Given the description of an element on the screen output the (x, y) to click on. 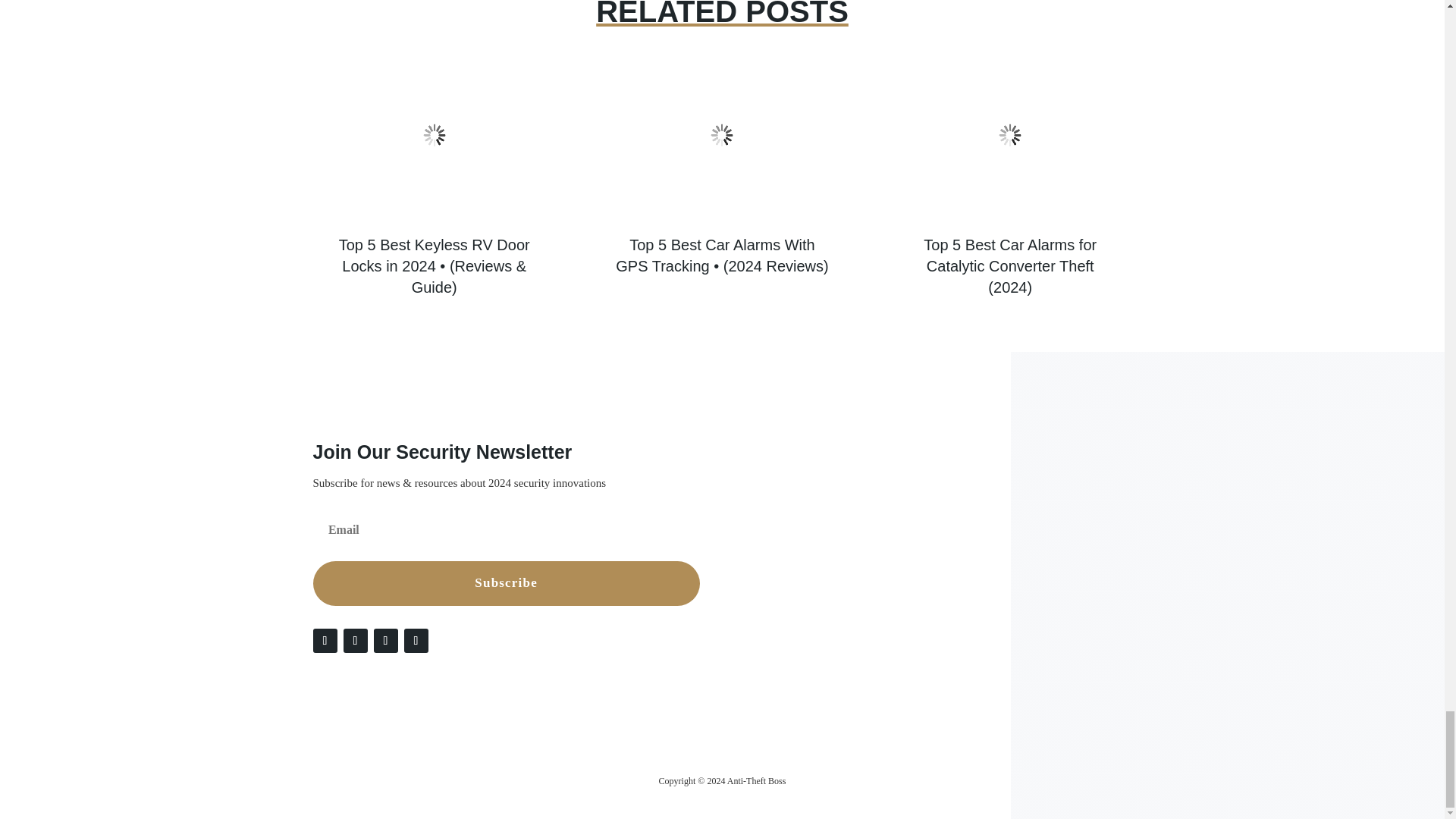
Follow on Facebook (324, 640)
Follow on LinkedIn (384, 640)
Follow on Youtube (415, 640)
Follow on Twitter (354, 640)
